Given the description of an element on the screen output the (x, y) to click on. 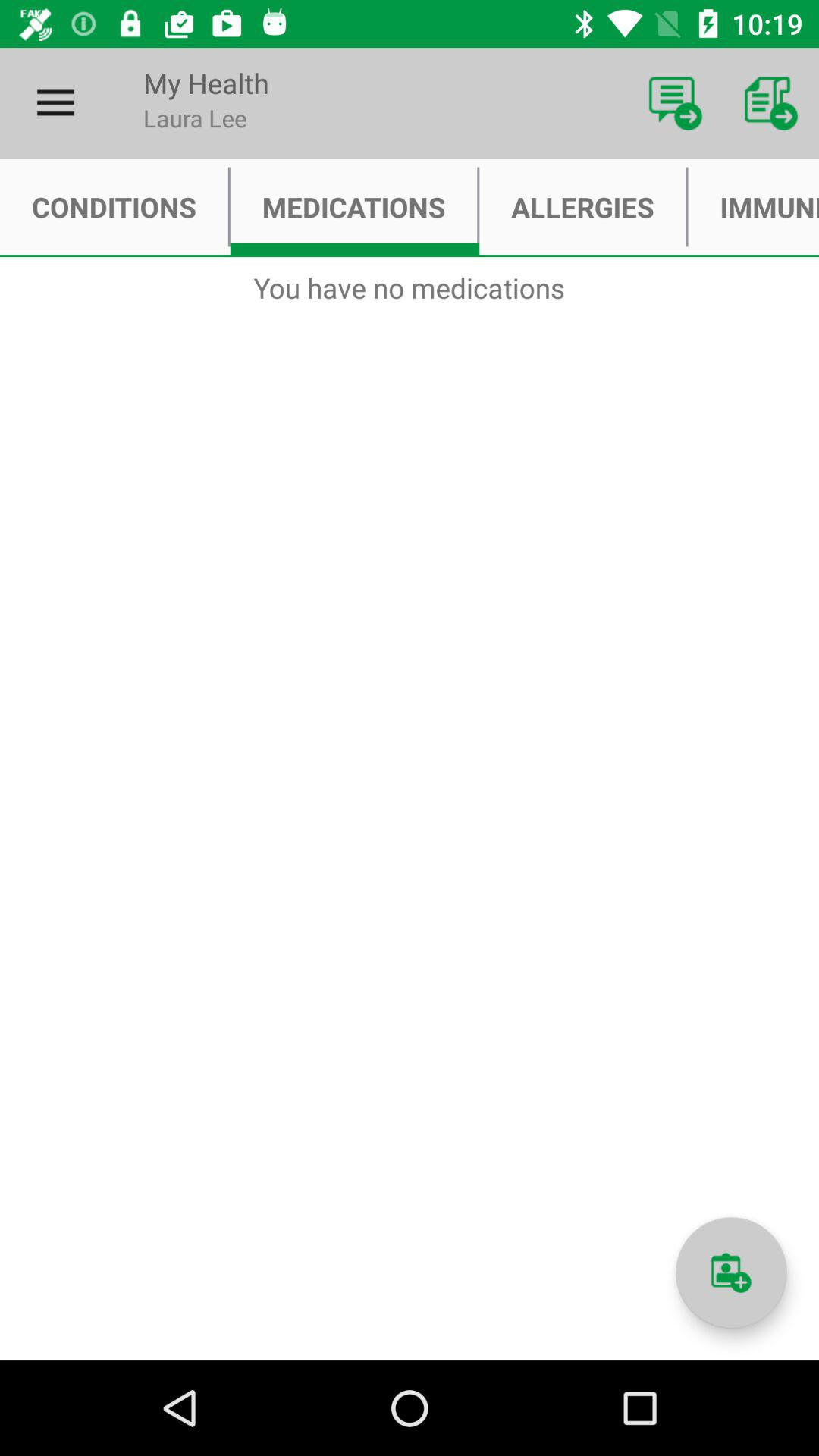
press icon next to the my health (675, 103)
